Given the description of an element on the screen output the (x, y) to click on. 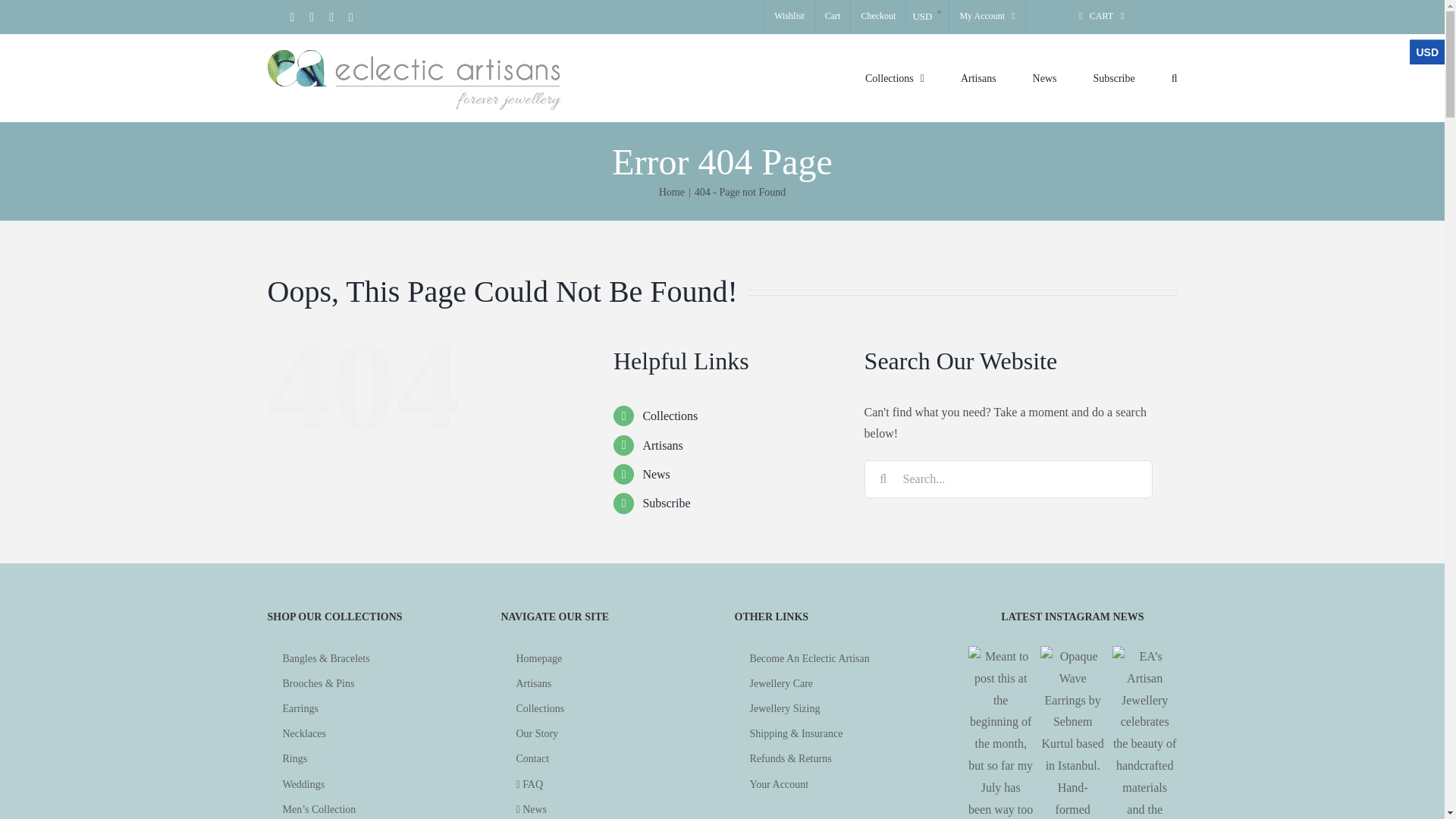
Wishlist (788, 16)
CART (1101, 16)
My Account (987, 16)
Checkout (877, 16)
Cart (832, 16)
USD (927, 12)
Log In (1055, 177)
